Given the description of an element on the screen output the (x, y) to click on. 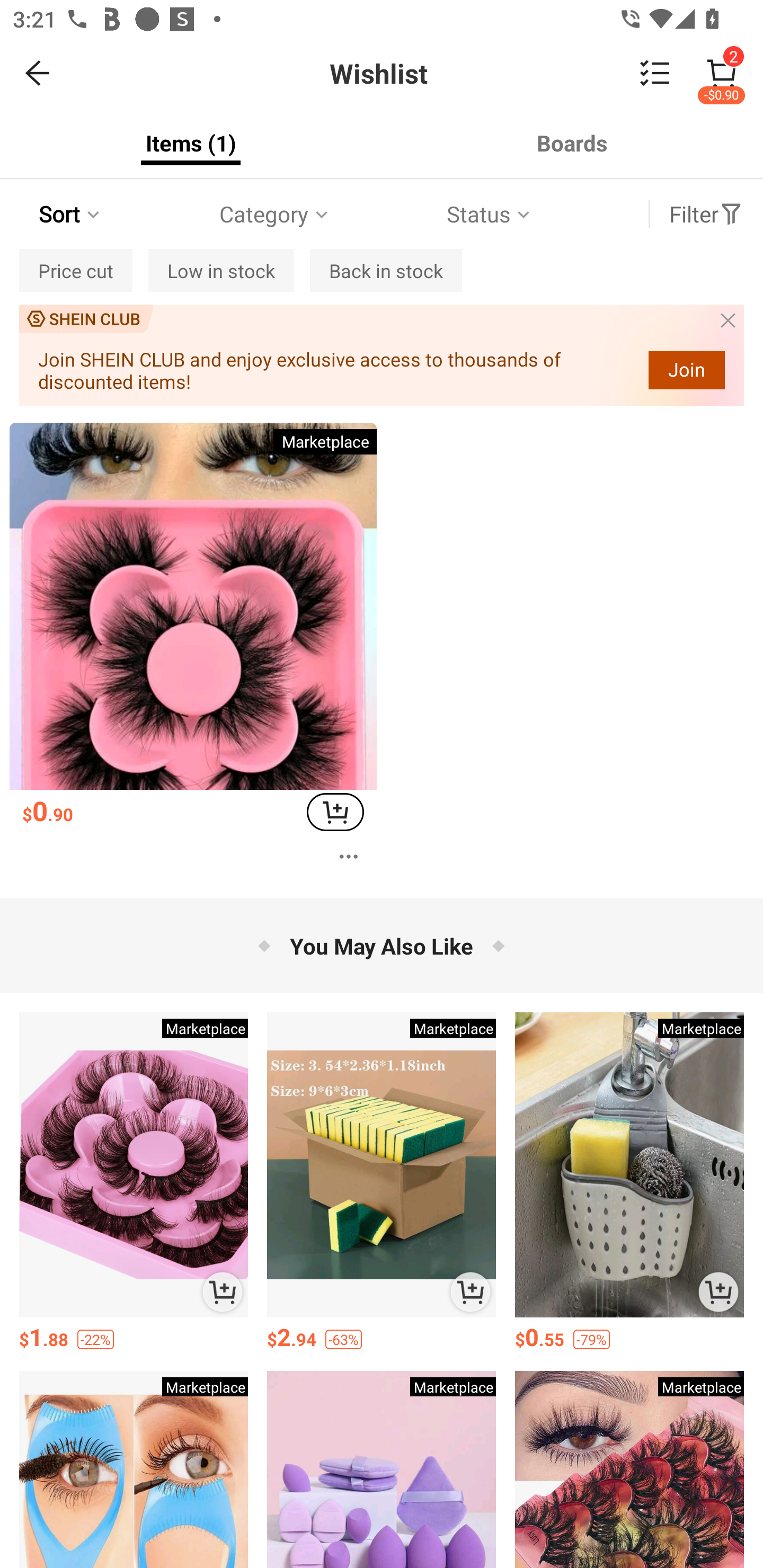
Wishlist (381, 72)
2 -$0.90 (721, 72)
change view (654, 72)
BACK (38, 72)
Items (1) (190, 143)
Boards (572, 143)
Sort (70, 213)
Category (275, 213)
Status (489, 213)
Filter (705, 213)
Price cut (75, 270)
Low in stock (220, 270)
Back in stock (385, 270)
ADD TO CART (334, 812)
You May Also Like (381, 945)
ADD TO CART (221, 1291)
ADD TO CART (469, 1291)
ADD TO CART (717, 1291)
5pairs Volumized False Eyelashes Marketplace (629, 1469)
